Given the description of an element on the screen output the (x, y) to click on. 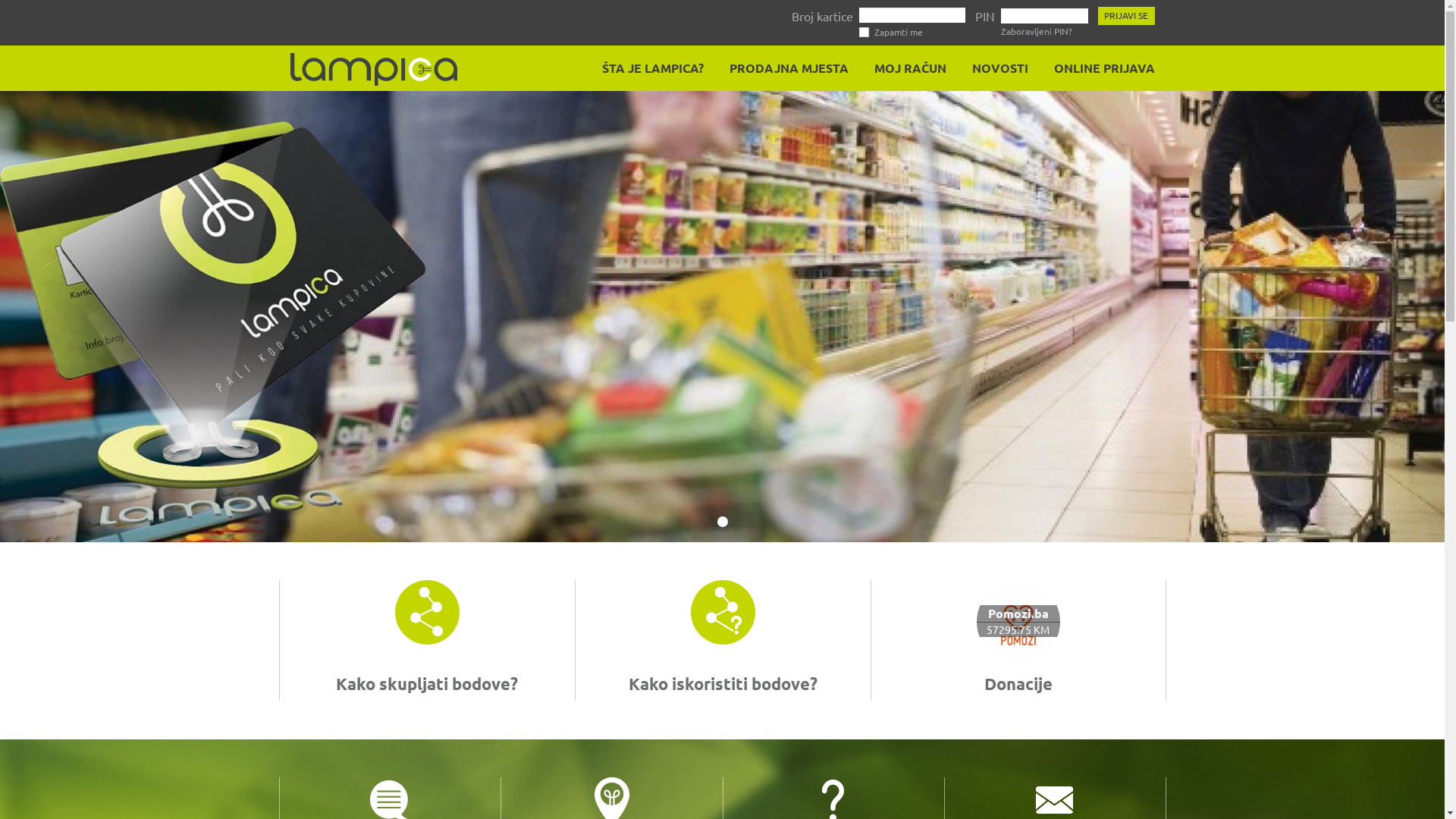
Zaboravljeni PIN? Element type: text (1036, 31)
Kako iskoristiti bodove? Element type: text (721, 683)
NOVOSTI Element type: text (994, 68)
Kako skupljati bodove? Element type: text (426, 683)
PRODAJNA MJESTA Element type: text (783, 68)
ONLINE PRIJAVA Element type: text (1098, 68)
PRIJAVI SE Element type: text (1126, 15)
1 Element type: text (722, 521)
